Given the description of an element on the screen output the (x, y) to click on. 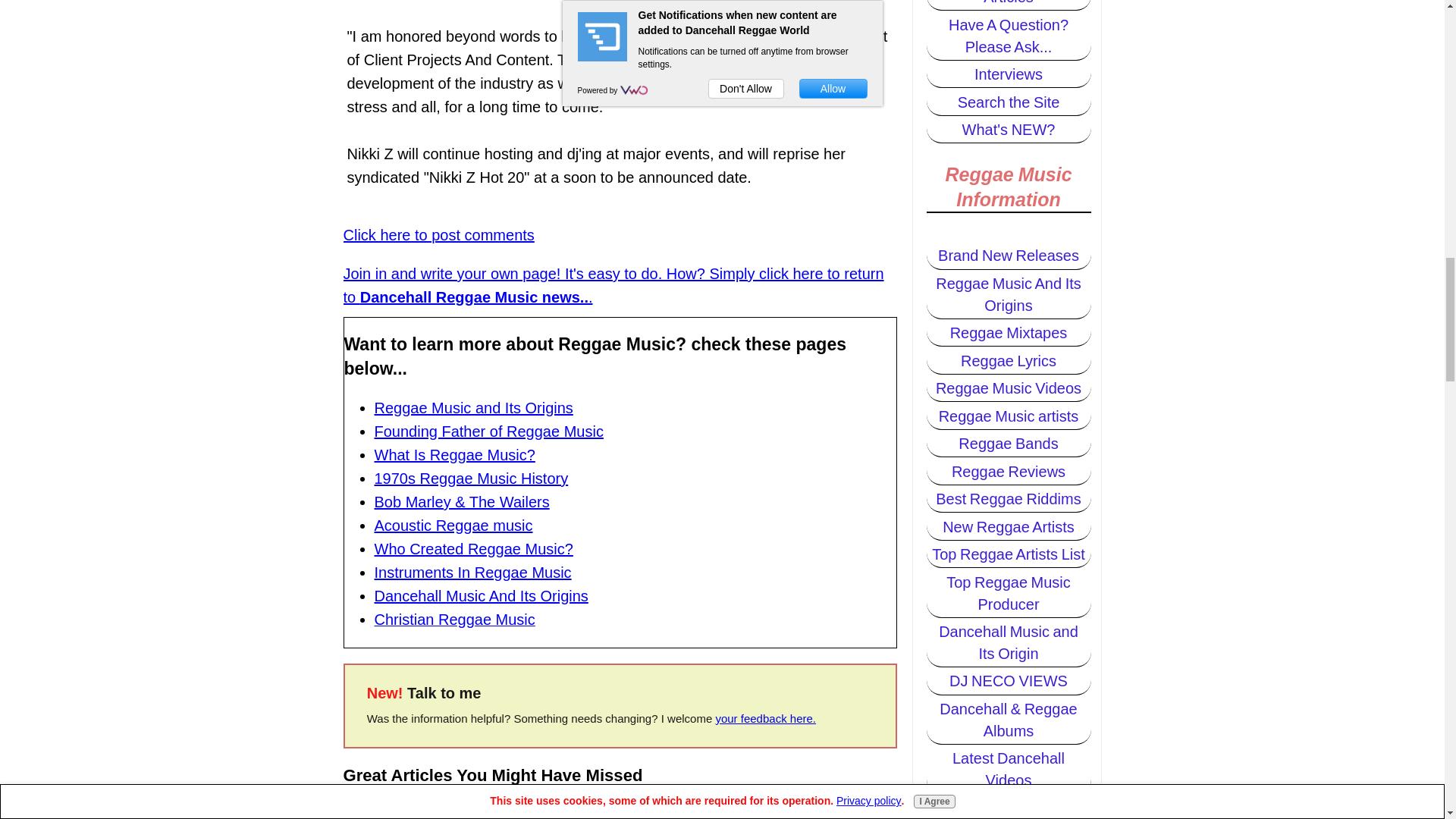
Dancehall Music And Its Origins (481, 596)
Articles (1008, 5)
Have A Question? Please Ask... (1008, 35)
Instruments In Reggae Music (473, 572)
Christian Reggae Music (454, 620)
Interviews (1008, 74)
Who Created Reggae Music? (473, 548)
Acoustic Reggae music (453, 524)
Click here to post comments (438, 234)
Founding Father of Reggae Music (489, 431)
What Is Reggae Music? (454, 454)
1970s Reggae Music History (471, 478)
your feedback here. (764, 717)
Reggae Music and Its Origins (473, 407)
